Given the description of an element on the screen output the (x, y) to click on. 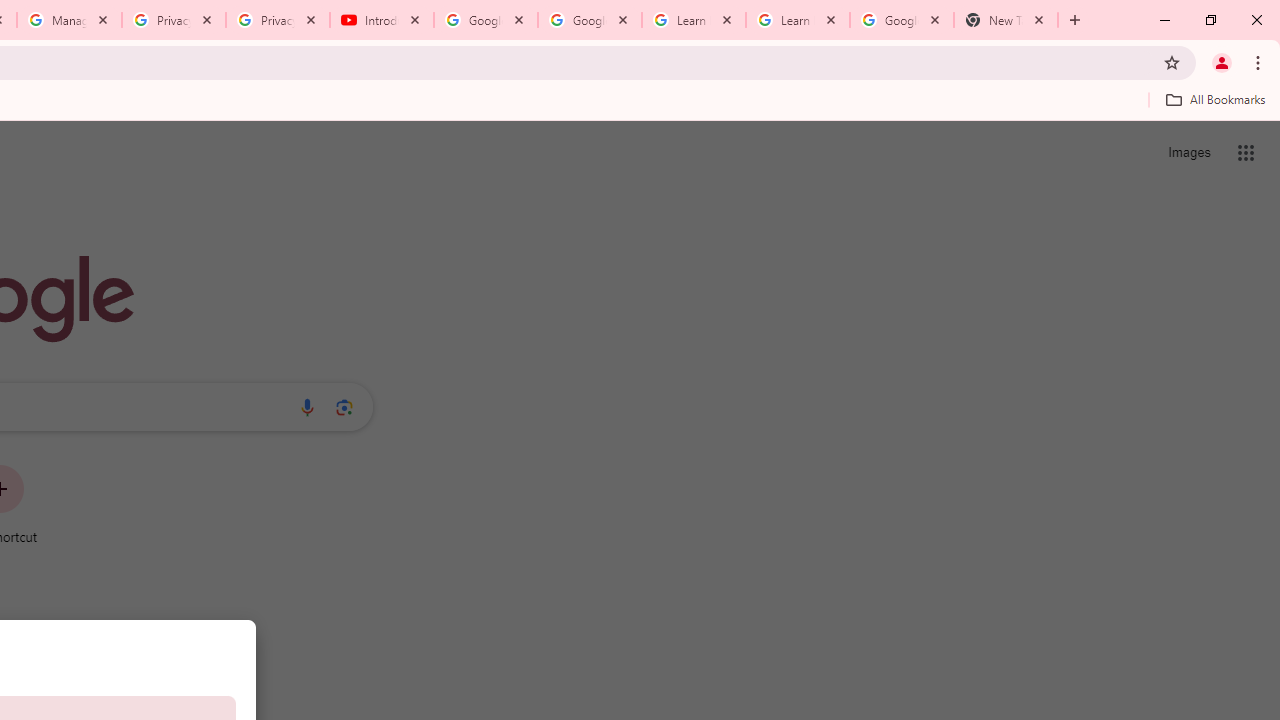
Google Account Help (485, 20)
